Given the description of an element on the screen output the (x, y) to click on. 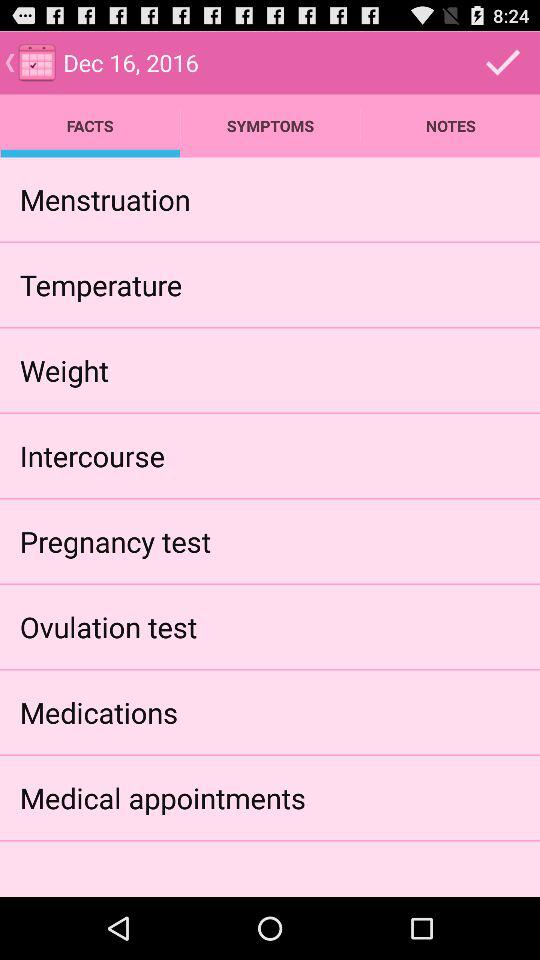
turn off temperature (100, 284)
